Given the description of an element on the screen output the (x, y) to click on. 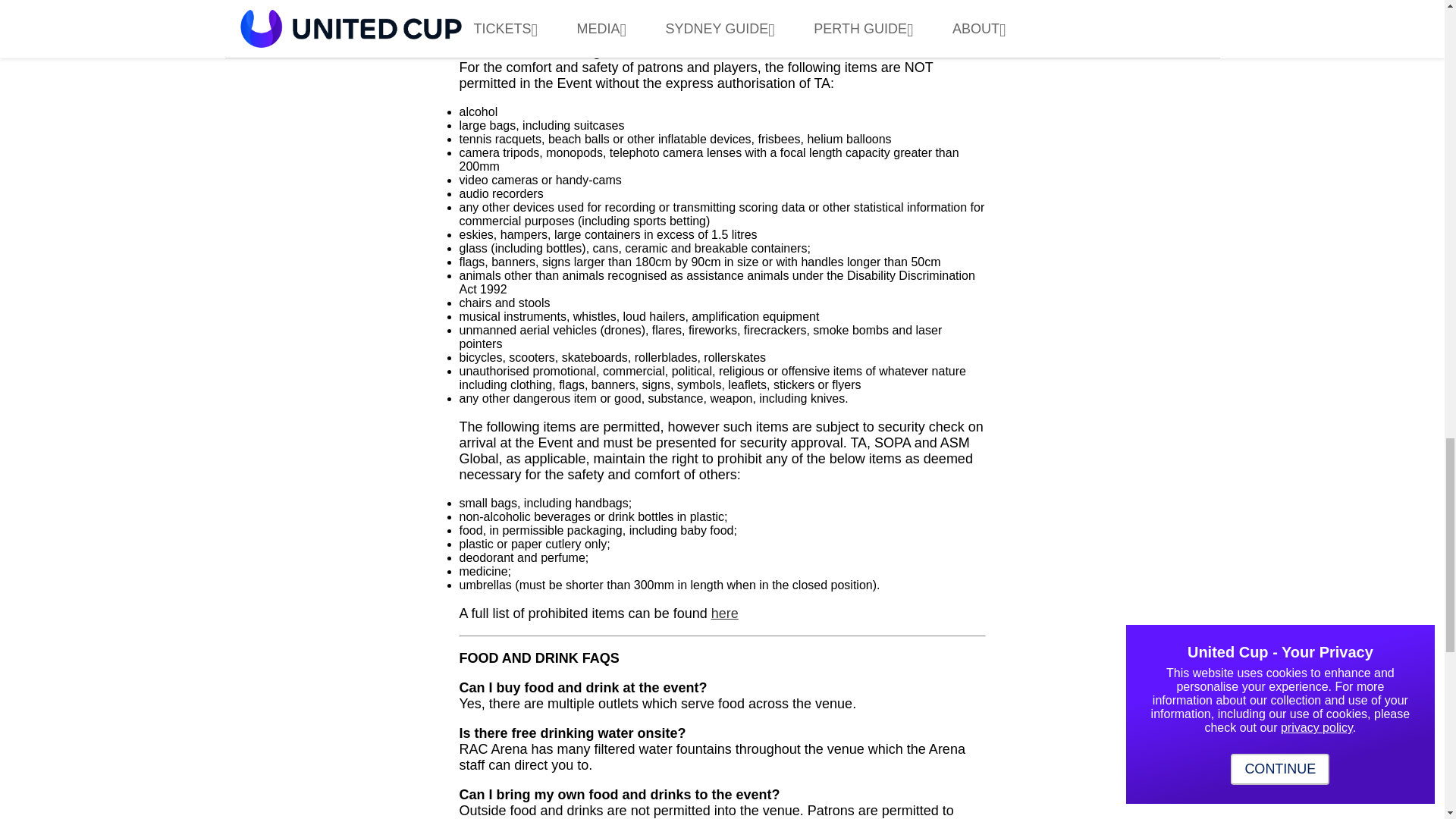
here (724, 613)
